Given the description of an element on the screen output the (x, y) to click on. 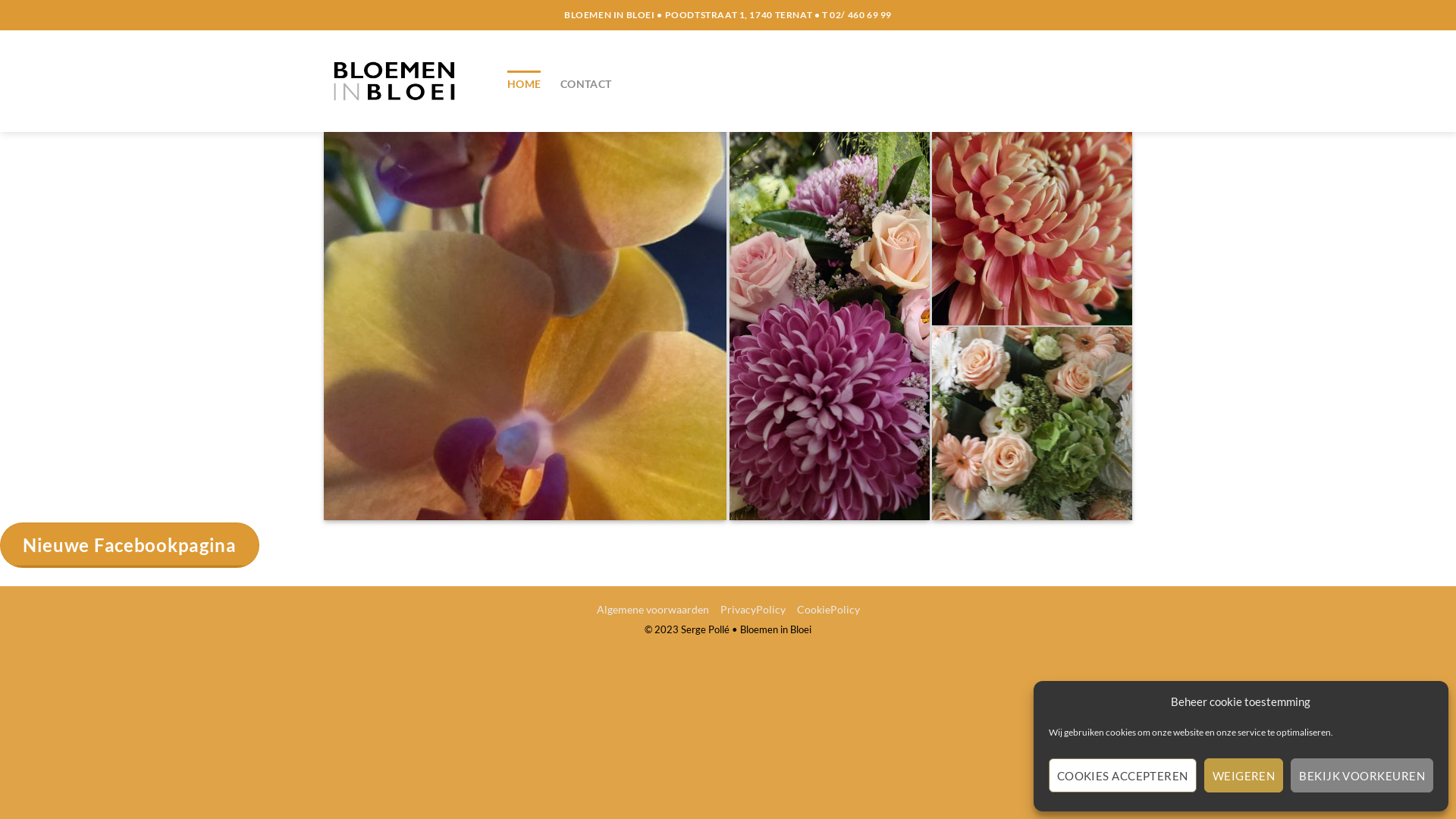
T 02/ 460 69 99 Element type: text (856, 14)
WEIGEREN Element type: text (1243, 775)
Skip to content Element type: text (0, 0)
COOKIES ACCEPTEREN Element type: text (1122, 775)
Algemene voorwaarden Element type: text (653, 608)
BEKIJK VOORKEUREN Element type: text (1361, 775)
PrivacyPolicy Element type: text (752, 608)
CookiePolicy Element type: text (827, 608)
Nieuwe Facebookpagina Element type: text (129, 544)
POODTSTRAAT 1, 1740 TERNAT Element type: text (738, 14)
CONTACT Element type: text (585, 83)
HOME Element type: text (523, 83)
